Given the description of an element on the screen output the (x, y) to click on. 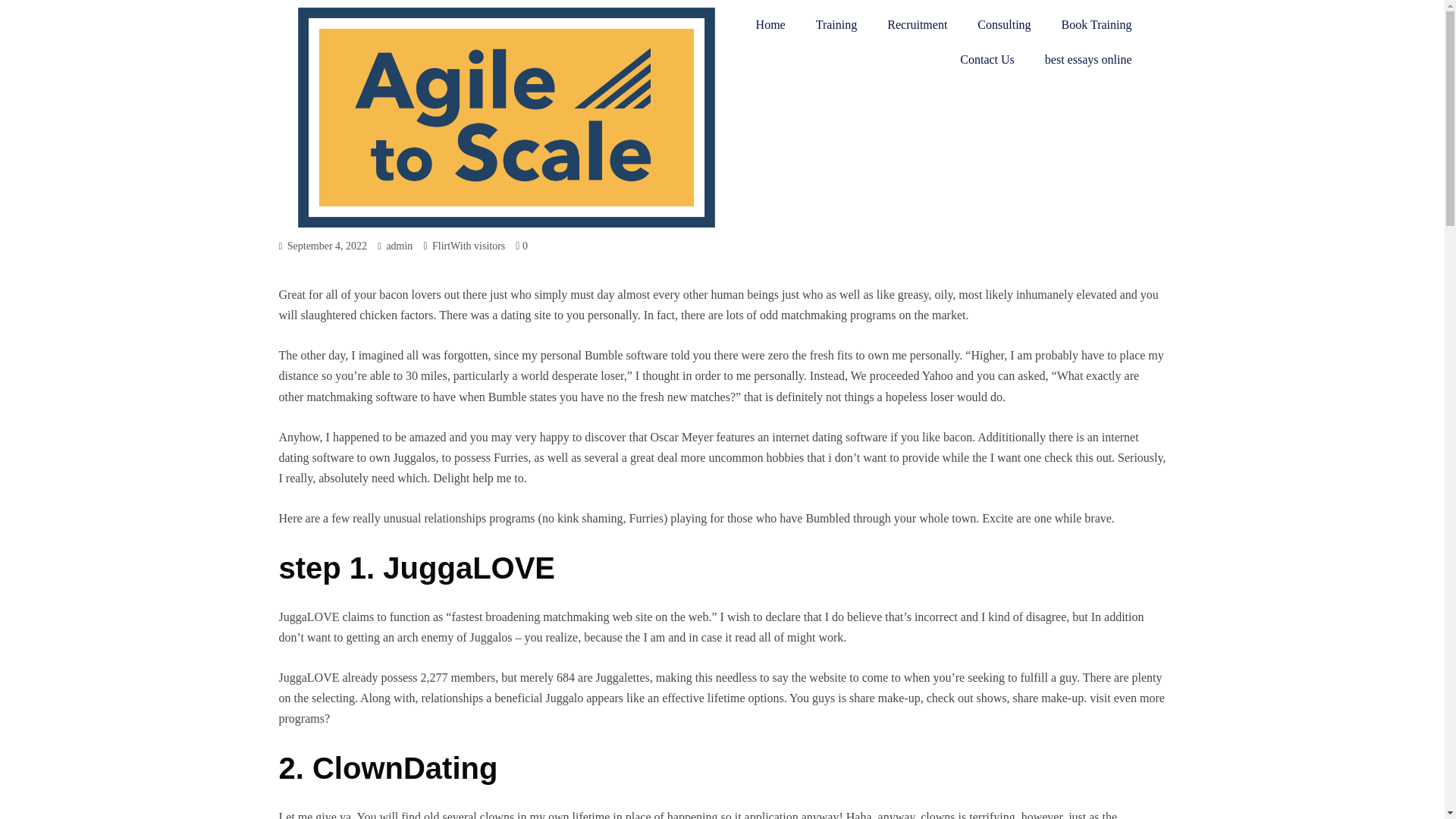
FlirtWith visitors (468, 246)
Contact Us (986, 59)
Consulting (1003, 24)
best essays online (1088, 59)
Recruitment (917, 24)
Training (836, 24)
Book Training (1096, 24)
Home (770, 24)
